Given the description of an element on the screen output the (x, y) to click on. 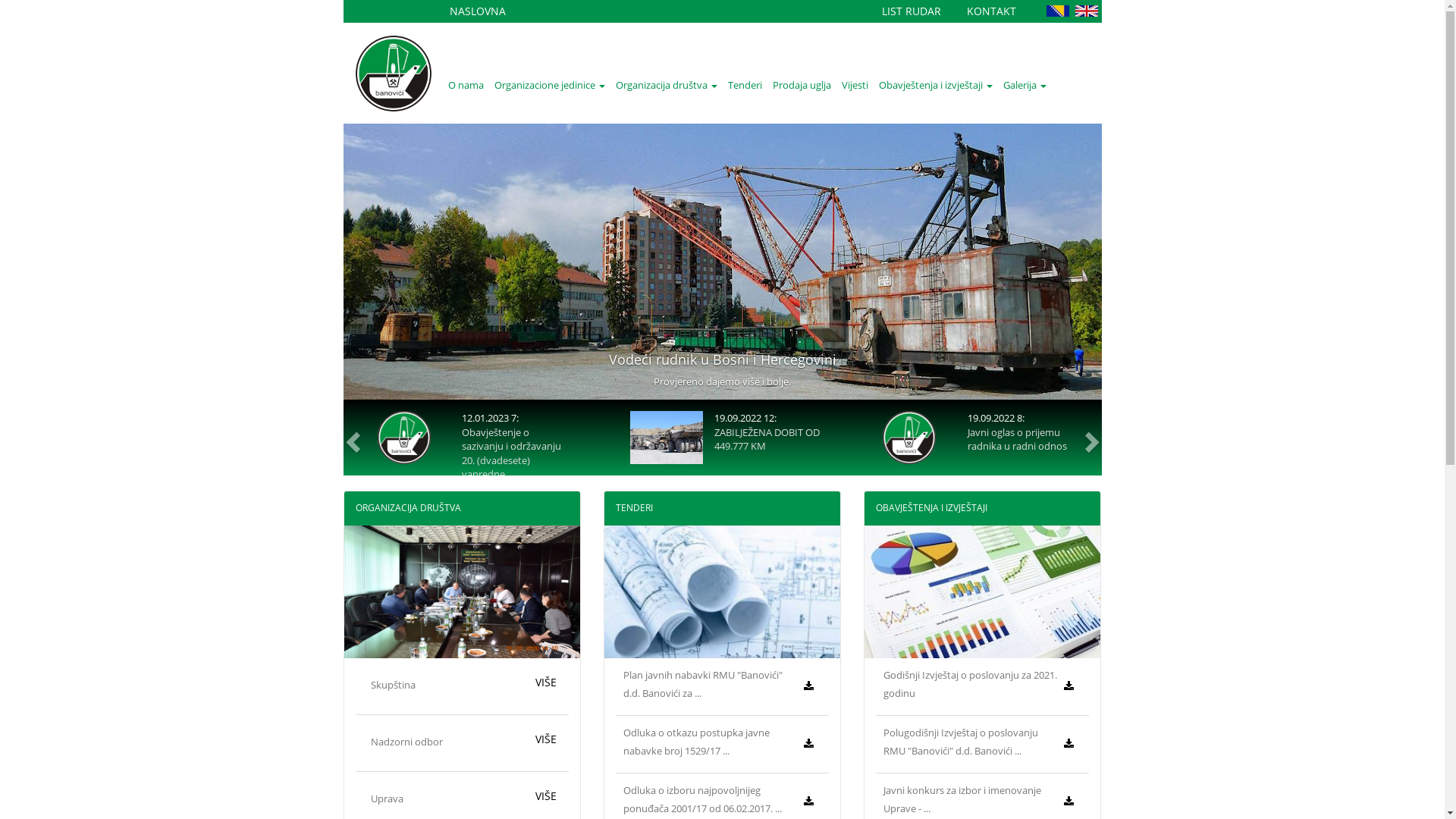
Tenderi Element type: text (743, 84)
Javni oglas o prijemu radnika u radni odnos Element type: text (1016, 439)
LIST RUDAR Element type: text (910, 10)
Prodaja uglja Element type: text (801, 84)
Galerija Element type: text (1024, 84)
Odluka o otkazu postupka javne nabavke broj 1529/17 ... Element type: text (696, 741)
KONTAKT Element type: text (990, 10)
Vijesti Element type: text (853, 84)
Prethodni Element type: text (349, 437)
O nama Element type: text (465, 84)
Organizacione jedinice Element type: text (548, 84)
NASLOVNA Element type: text (476, 10)
Javni konkurs za izbor i imenovanje Uprave - ... Element type: text (962, 799)
